Given the description of an element on the screen output the (x, y) to click on. 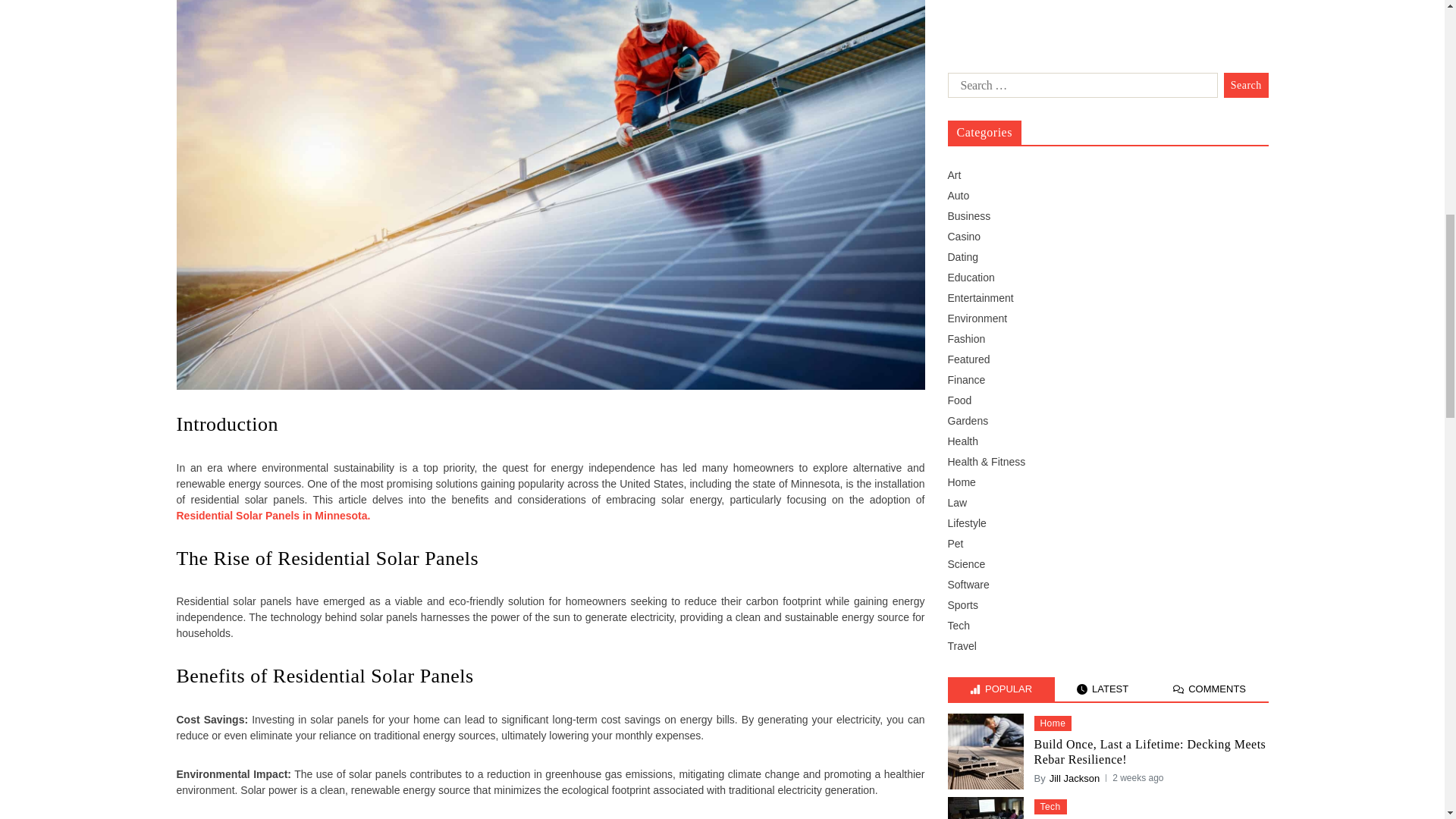
Environment (977, 2)
Residential Solar Panels in Minnesota. (272, 515)
